Given the description of an element on the screen output the (x, y) to click on. 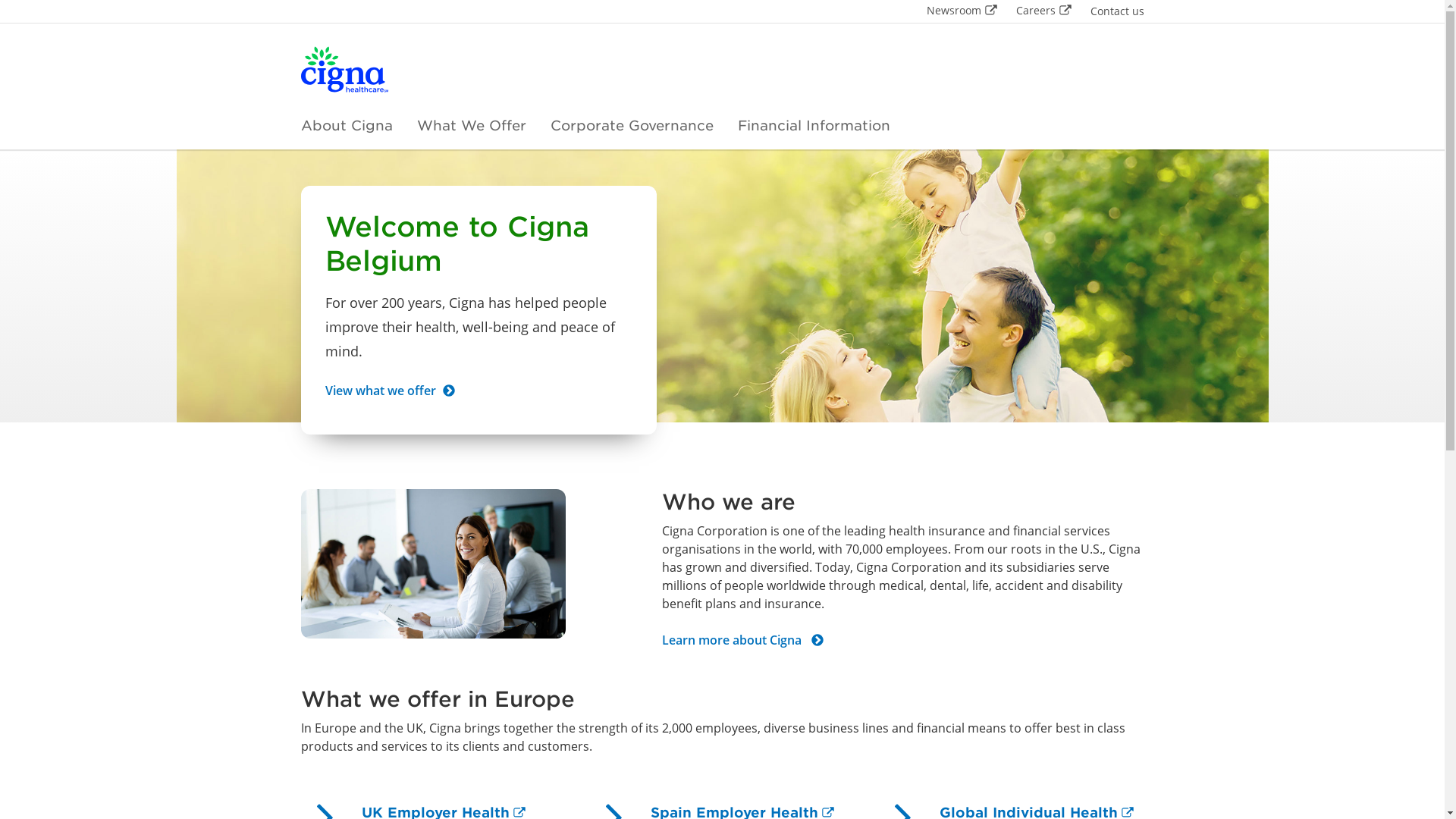
Learn more about Cigna Element type: text (743, 641)
Careers Element type: text (1044, 11)
Corporate Governance Element type: text (631, 126)
Financial Information Element type: text (813, 126)
Contact us Element type: text (1117, 10)
Newsroom Element type: text (961, 11)
About Cigna Element type: text (346, 126)
What We Offer Element type: text (471, 126)
View what we offer Element type: text (389, 392)
